Given the description of an element on the screen output the (x, y) to click on. 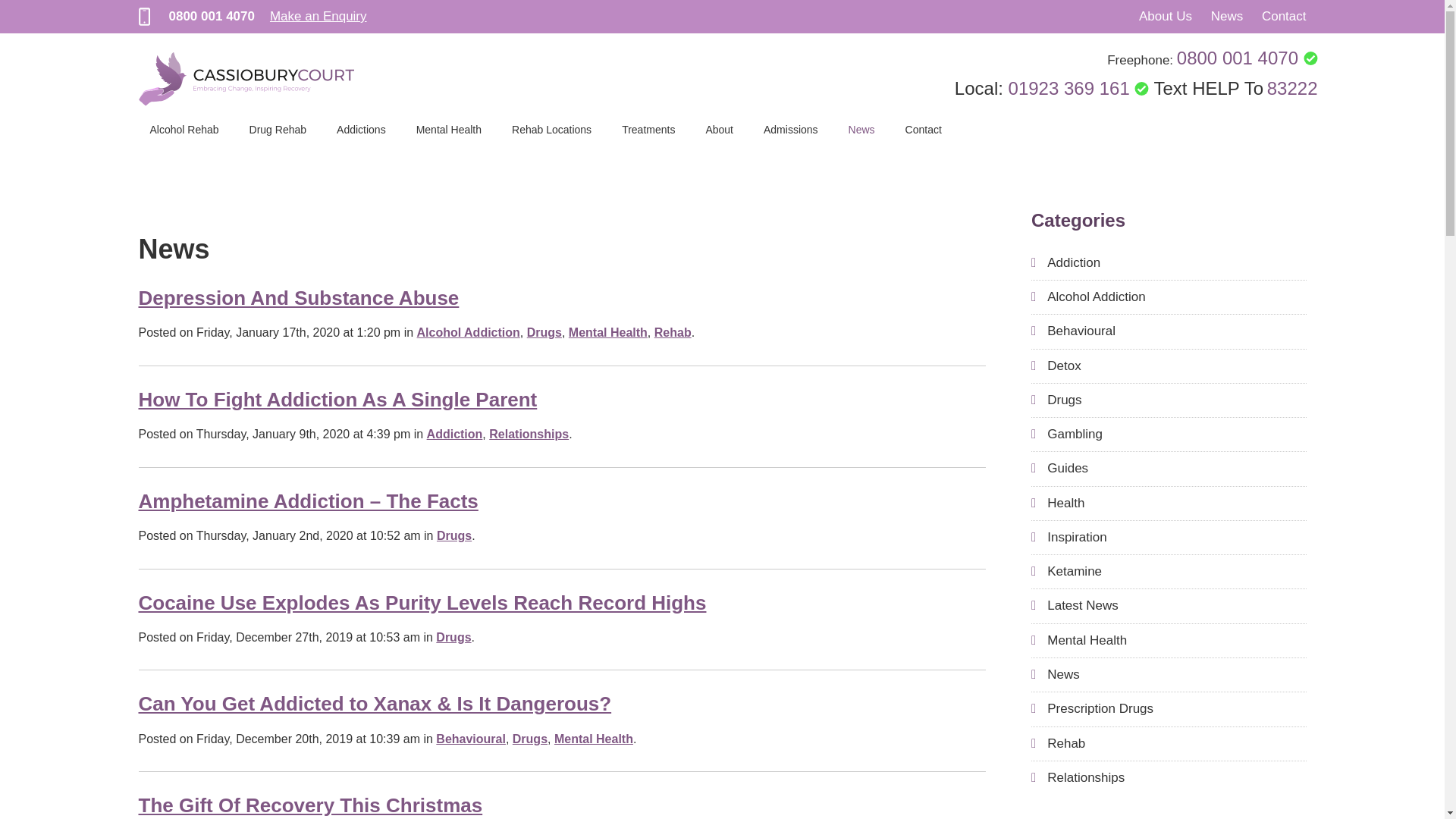
01923 369 161 (1079, 87)
83222 (1291, 87)
Contact (1284, 16)
Cassiobury Court (245, 79)
About Us (1165, 16)
Alcohol Rehab (184, 128)
0800 001 4070 (210, 16)
News (1227, 16)
Make an Enquiry (317, 16)
0800 001 4070 (1246, 57)
